Given the description of an element on the screen output the (x, y) to click on. 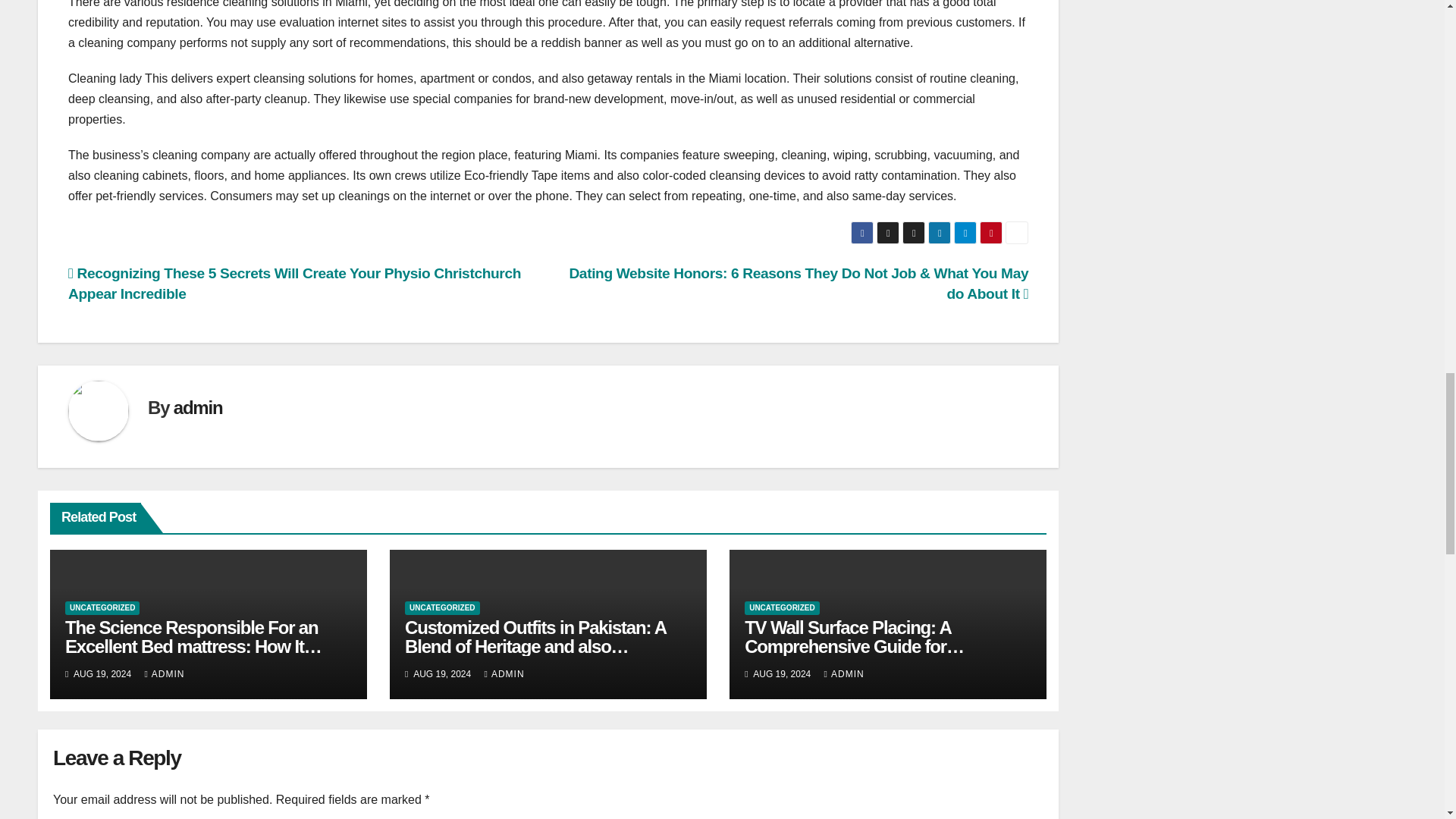
admin (197, 407)
UNCATEGORIZED (441, 608)
UNCATEGORIZED (781, 608)
ADMIN (164, 674)
UNCATEGORIZED (102, 608)
